Given the description of an element on the screen output the (x, y) to click on. 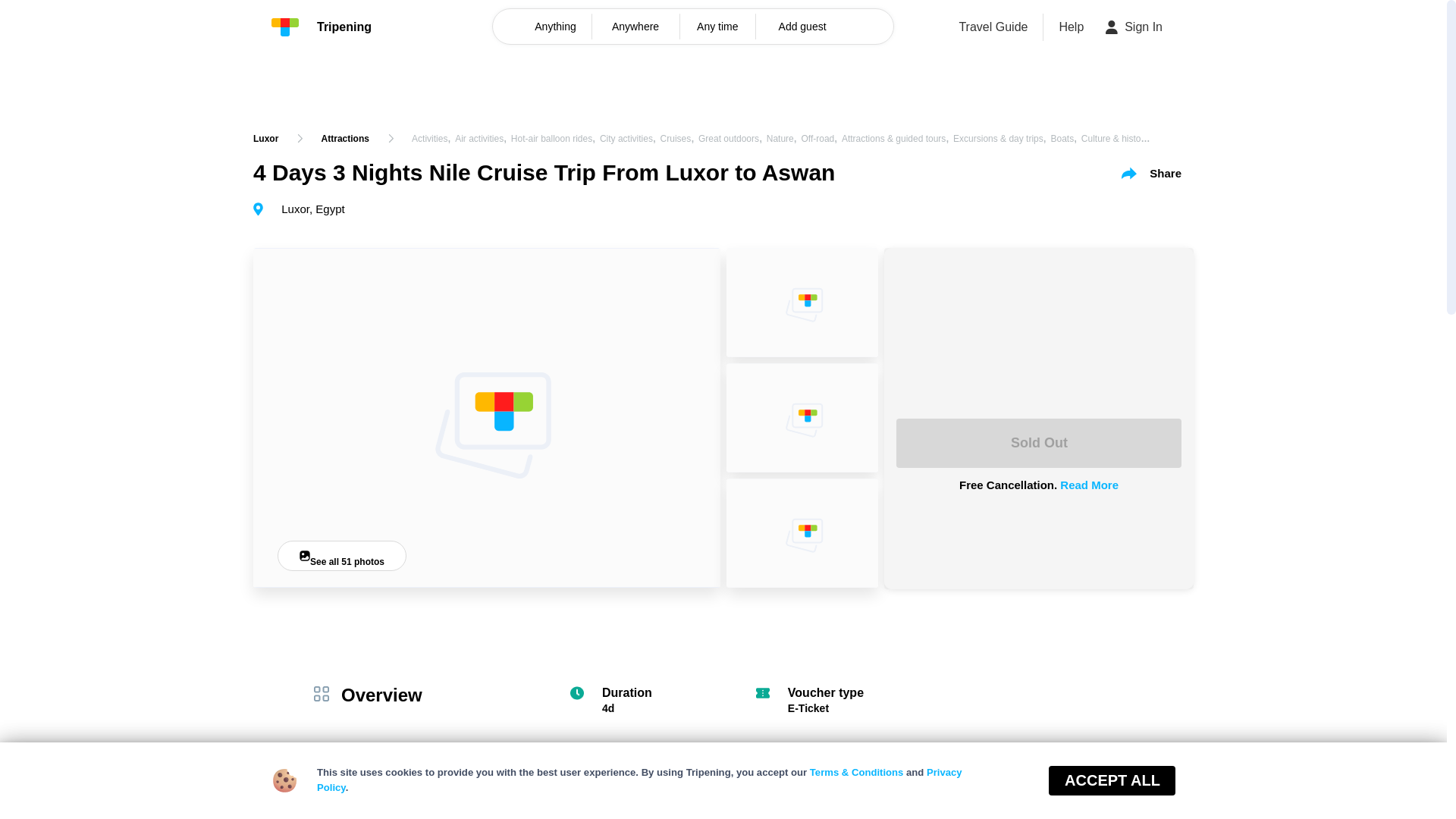
Nature (780, 138)
Activities (429, 138)
Privacy Policy (639, 779)
Air activities (478, 138)
Off-road (817, 138)
Tripening (320, 27)
Share (1151, 172)
Hot-air balloon rides (551, 138)
Attractions (345, 138)
City activities (625, 138)
